Given the description of an element on the screen output the (x, y) to click on. 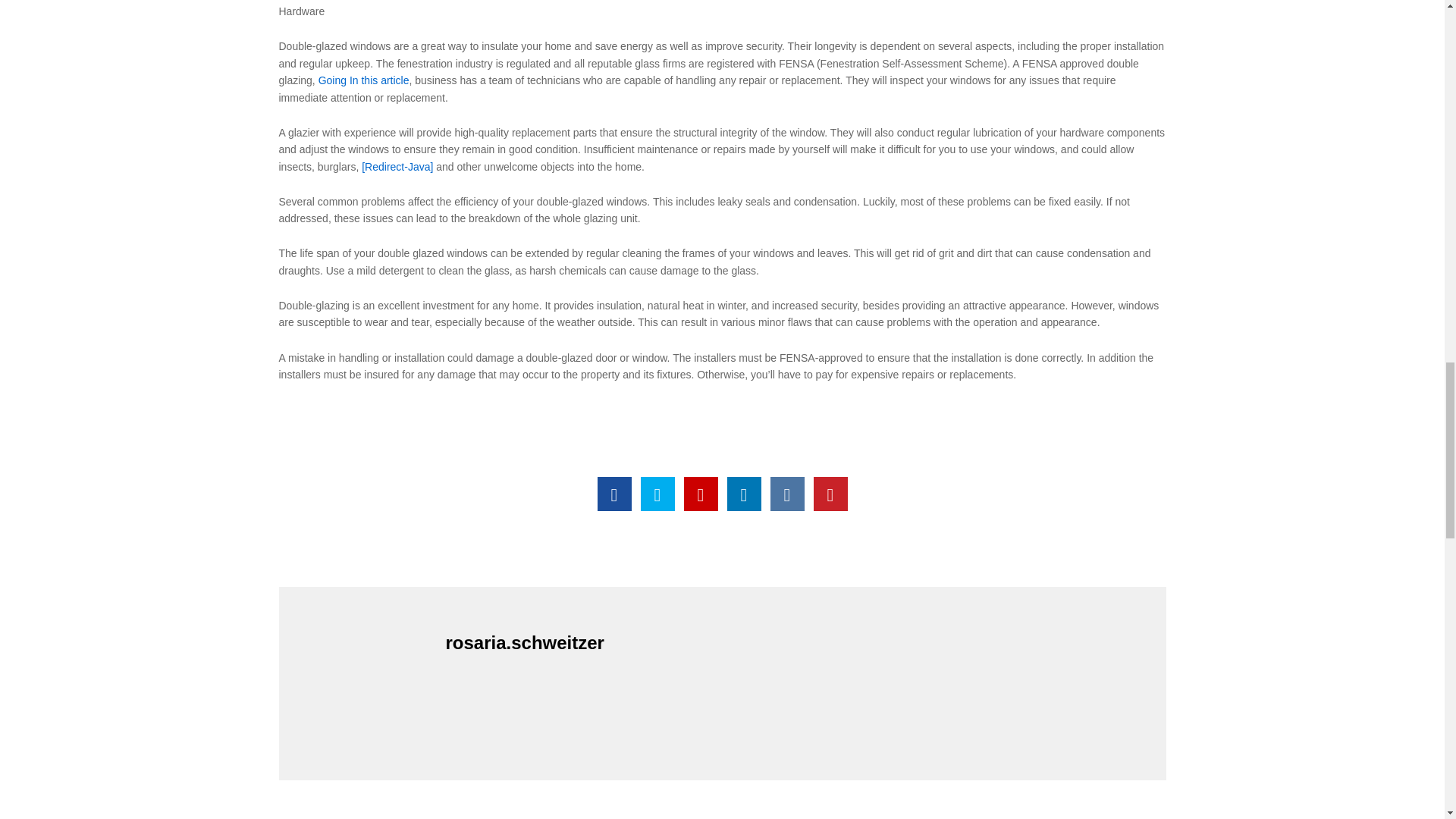
10 Repair Double Glazing-Related Meetups You Should Attend (700, 493)
10 Repair Double Glazing-Related Meetups You Should Attend (613, 493)
